Given the description of an element on the screen output the (x, y) to click on. 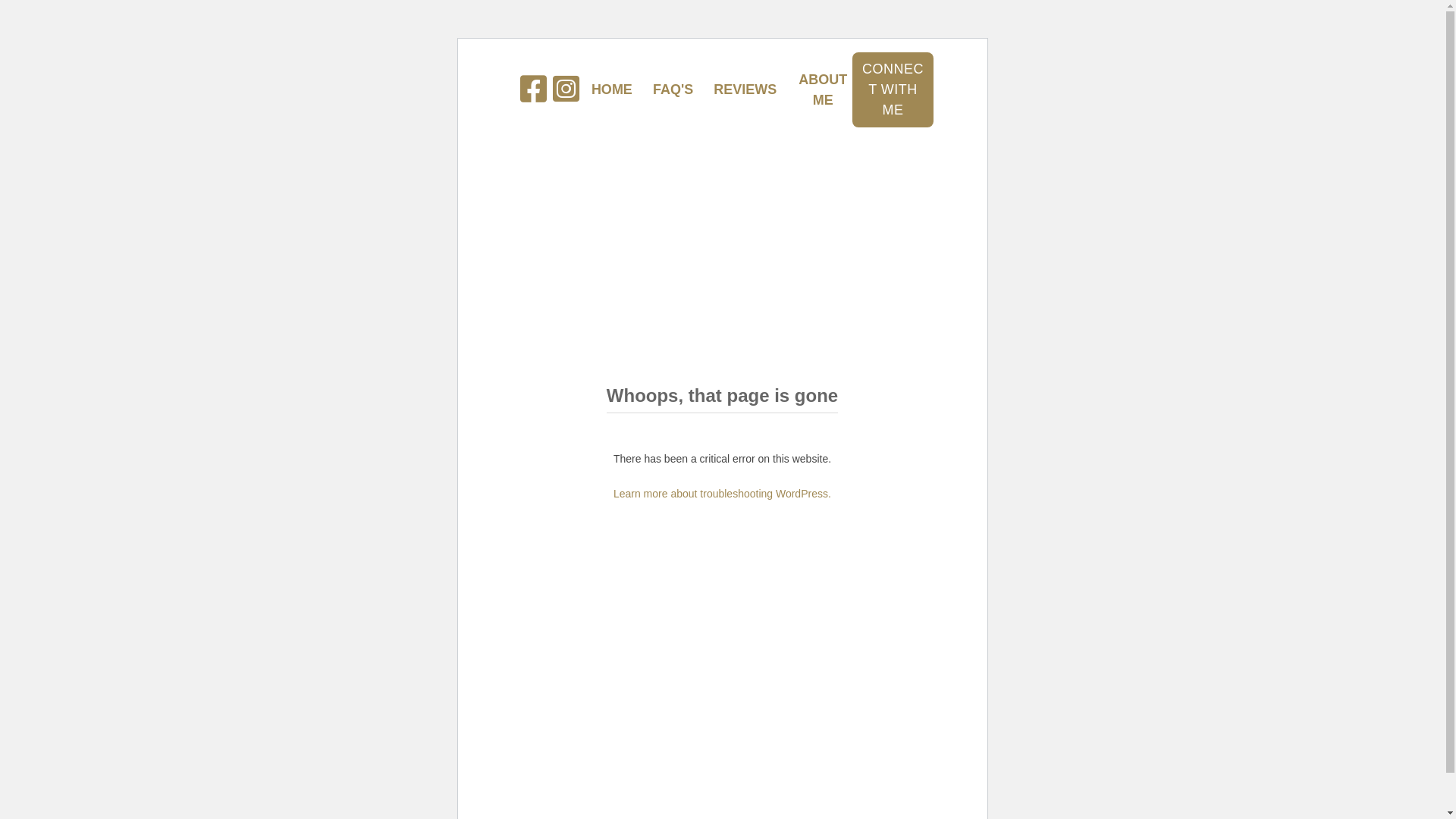
Learn more about troubleshooting WordPress. Element type: text (722, 493)
ABOUT ME Element type: text (822, 89)
REVIEWS Element type: text (744, 89)
HOME Element type: text (611, 89)
FAQ'S Element type: text (672, 89)
CONNECT WITH ME Element type: text (893, 89)
